Given the description of an element on the screen output the (x, y) to click on. 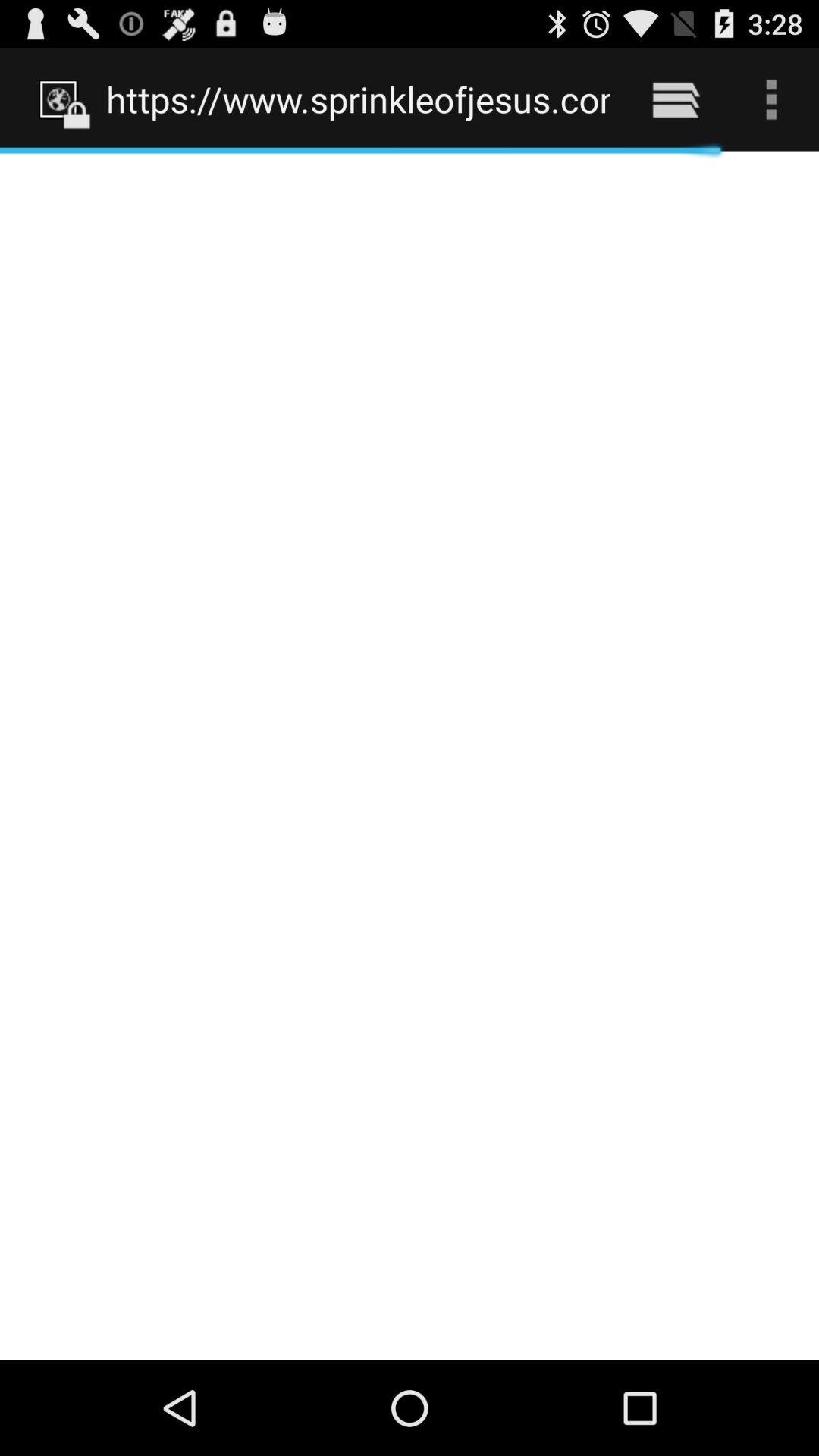
choose the https www sprinkleofjesus item (357, 99)
